Given the description of an element on the screen output the (x, y) to click on. 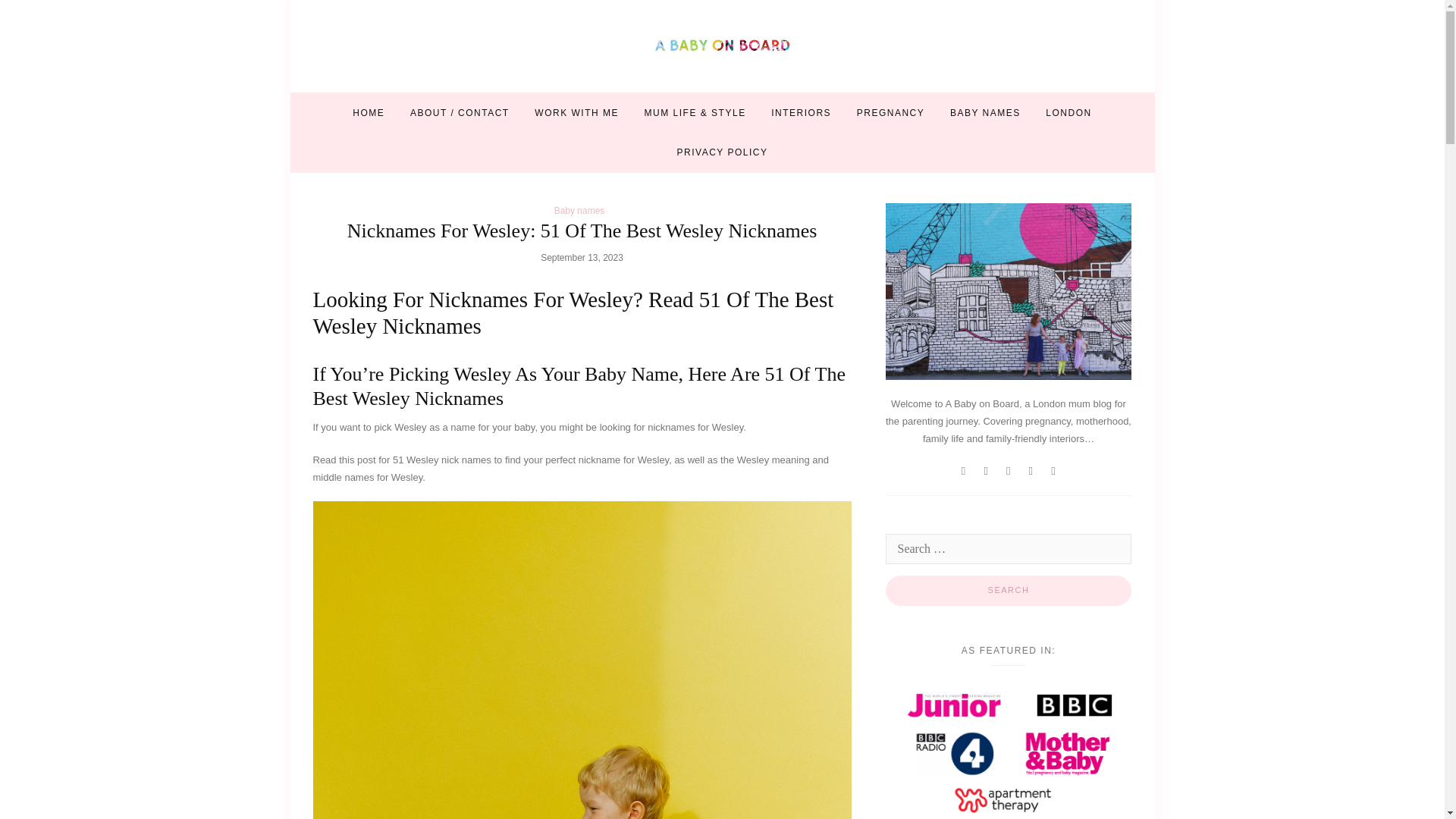
WORK WITH ME (576, 112)
INTERIORS (801, 112)
Baby names (579, 210)
PRIVACY POLICY (722, 151)
